Given the description of an element on the screen output the (x, y) to click on. 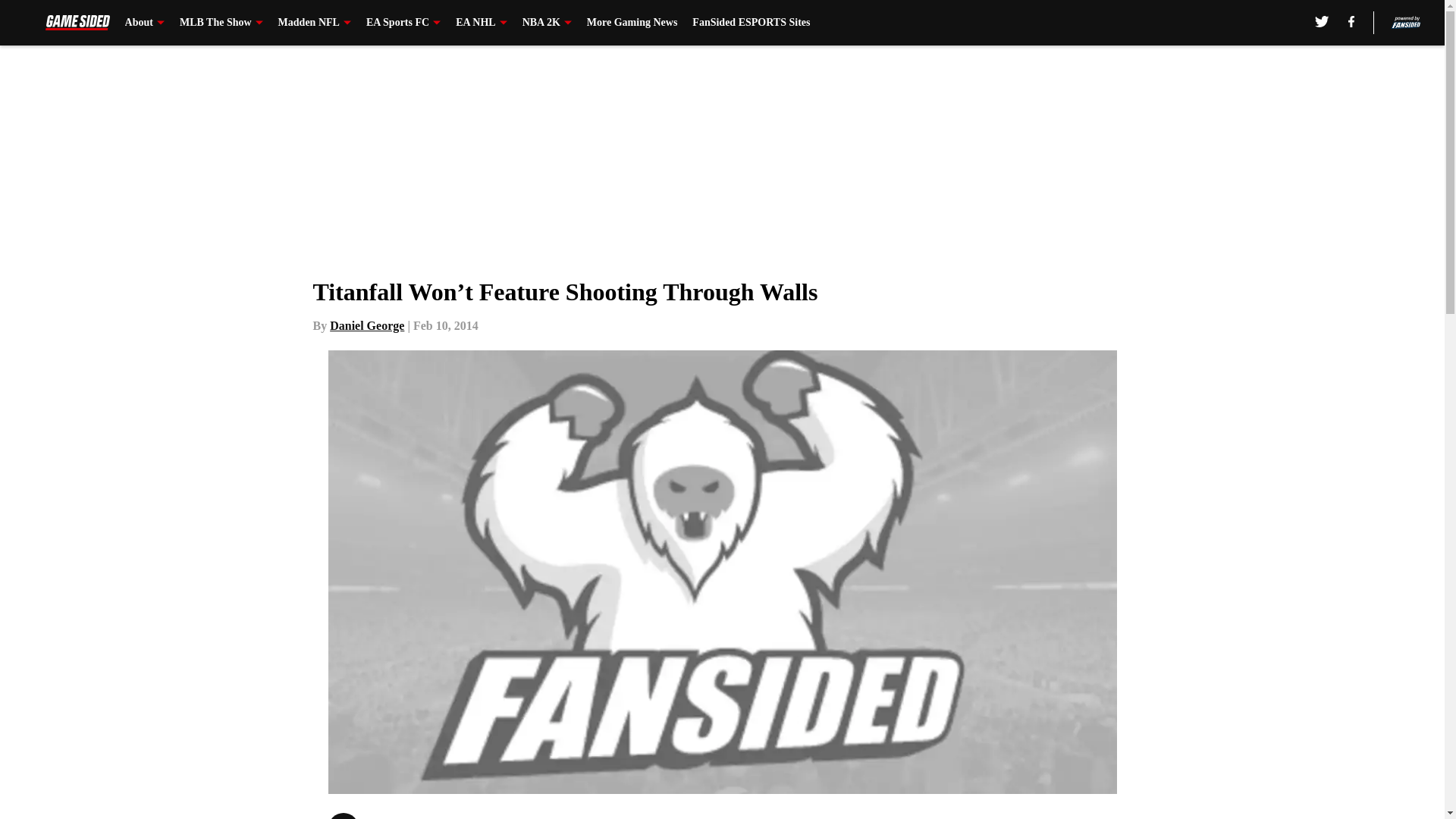
More Gaming News (632, 22)
Daniel George (367, 325)
FanSided ESPORTS Sites (751, 22)
